Given the description of an element on the screen output the (x, y) to click on. 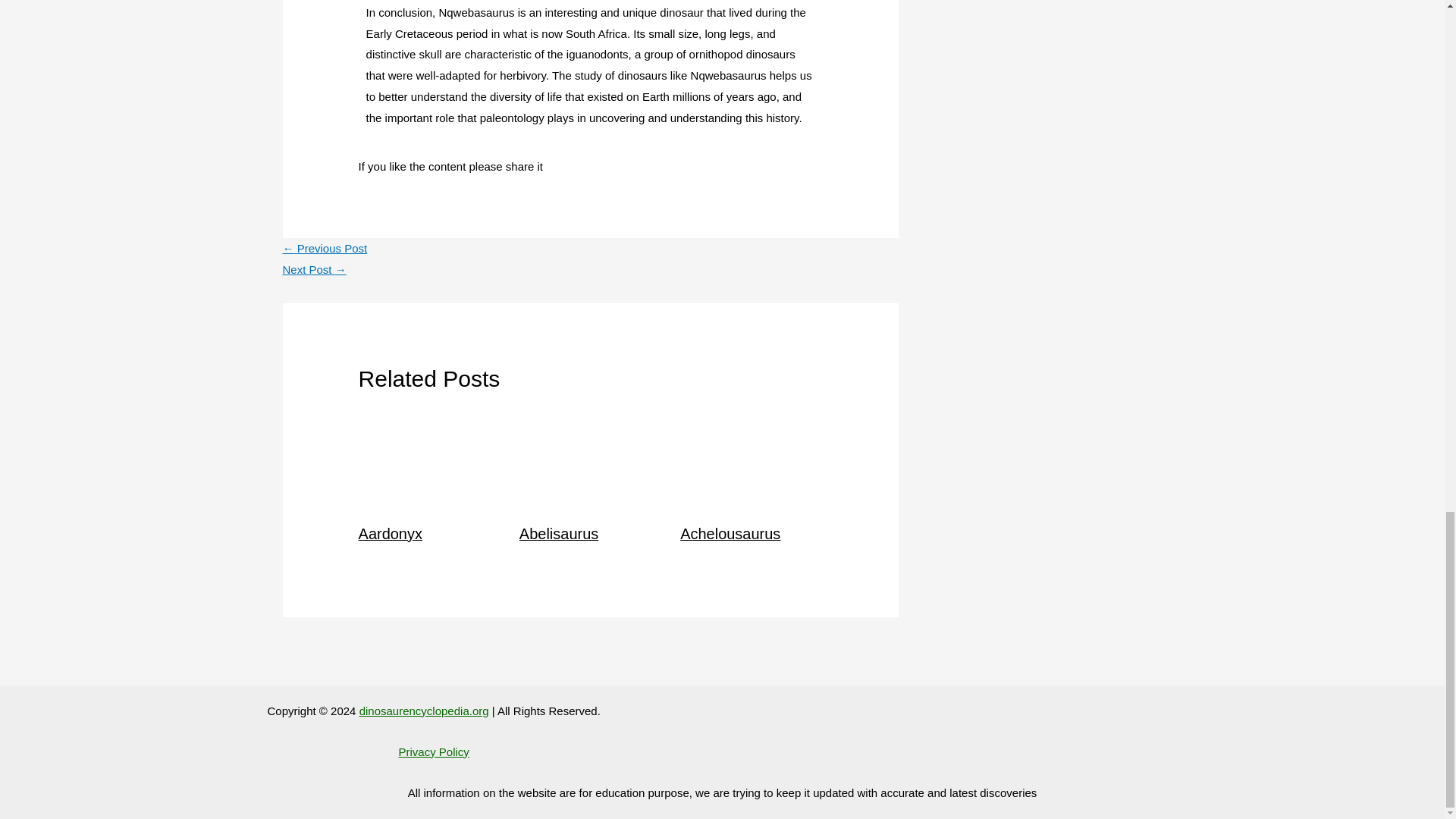
Abelisaurus (558, 533)
Achelousaurus (729, 533)
Aardonyx (390, 533)
